Given the description of an element on the screen output the (x, y) to click on. 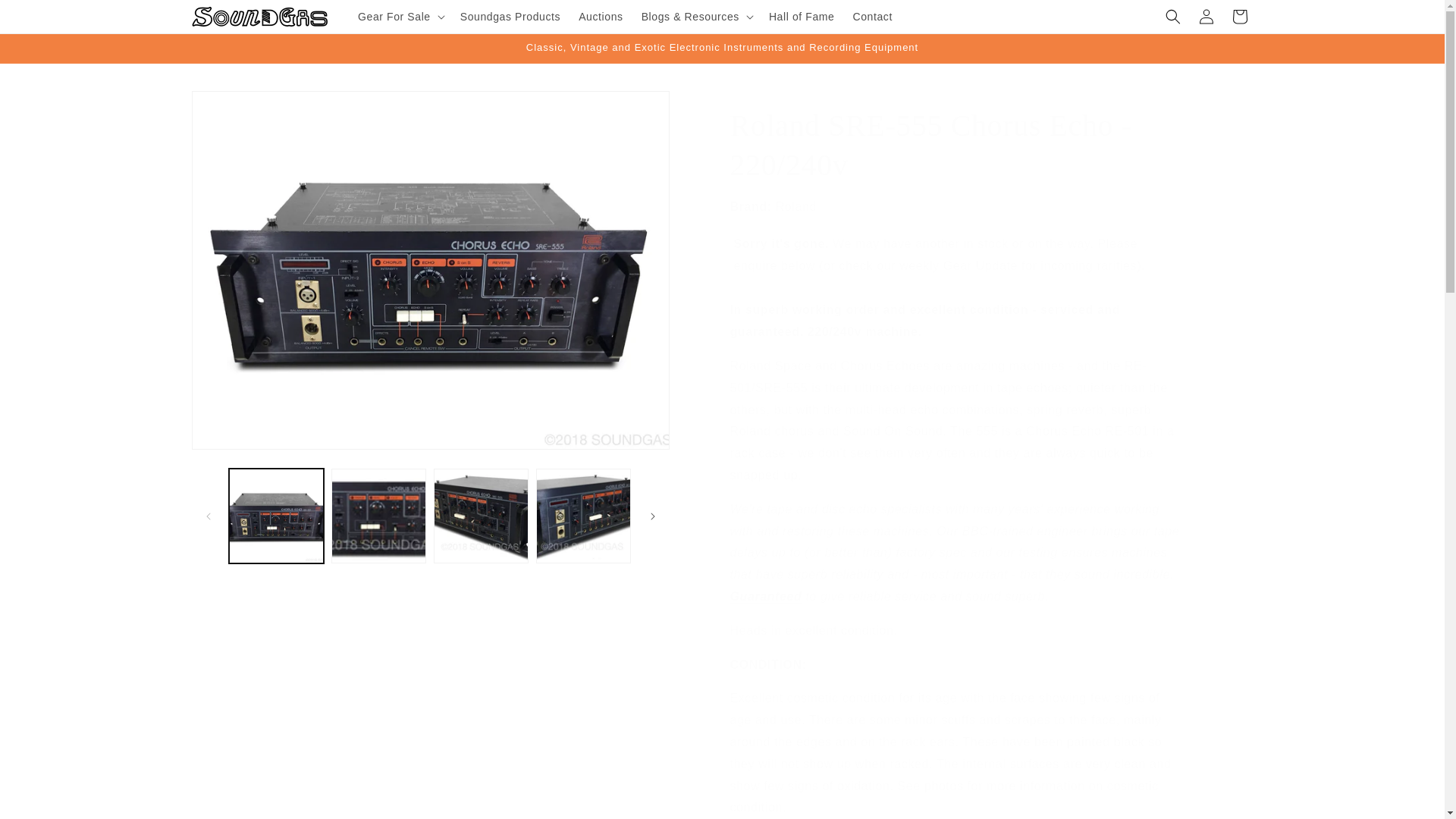
Our Guarantee (765, 595)
Skip to content (45, 17)
